Given the description of an element on the screen output the (x, y) to click on. 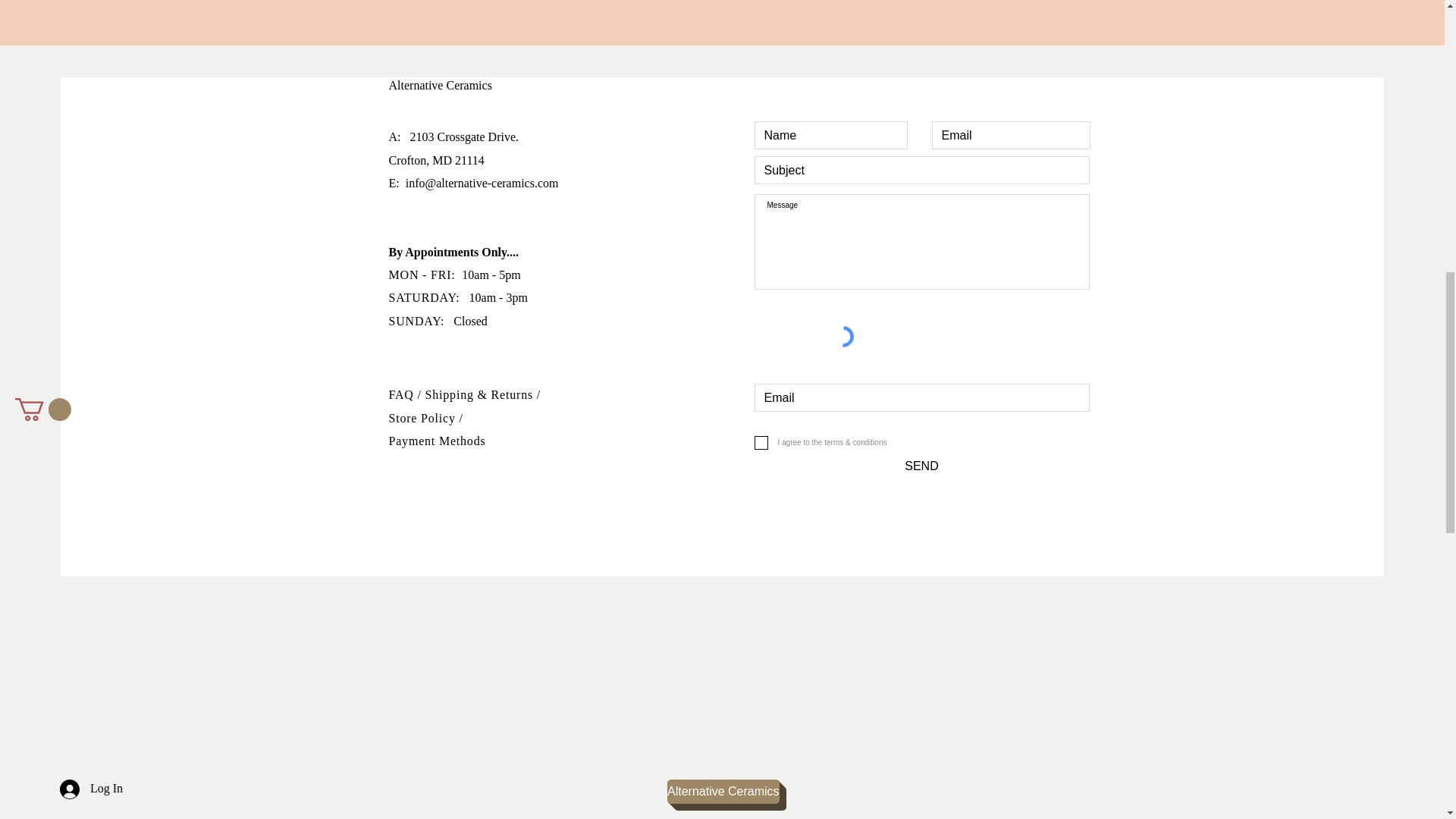
SEND (921, 465)
Store Policy  (423, 418)
Payment Methods (436, 440)
